Given the description of an element on the screen output the (x, y) to click on. 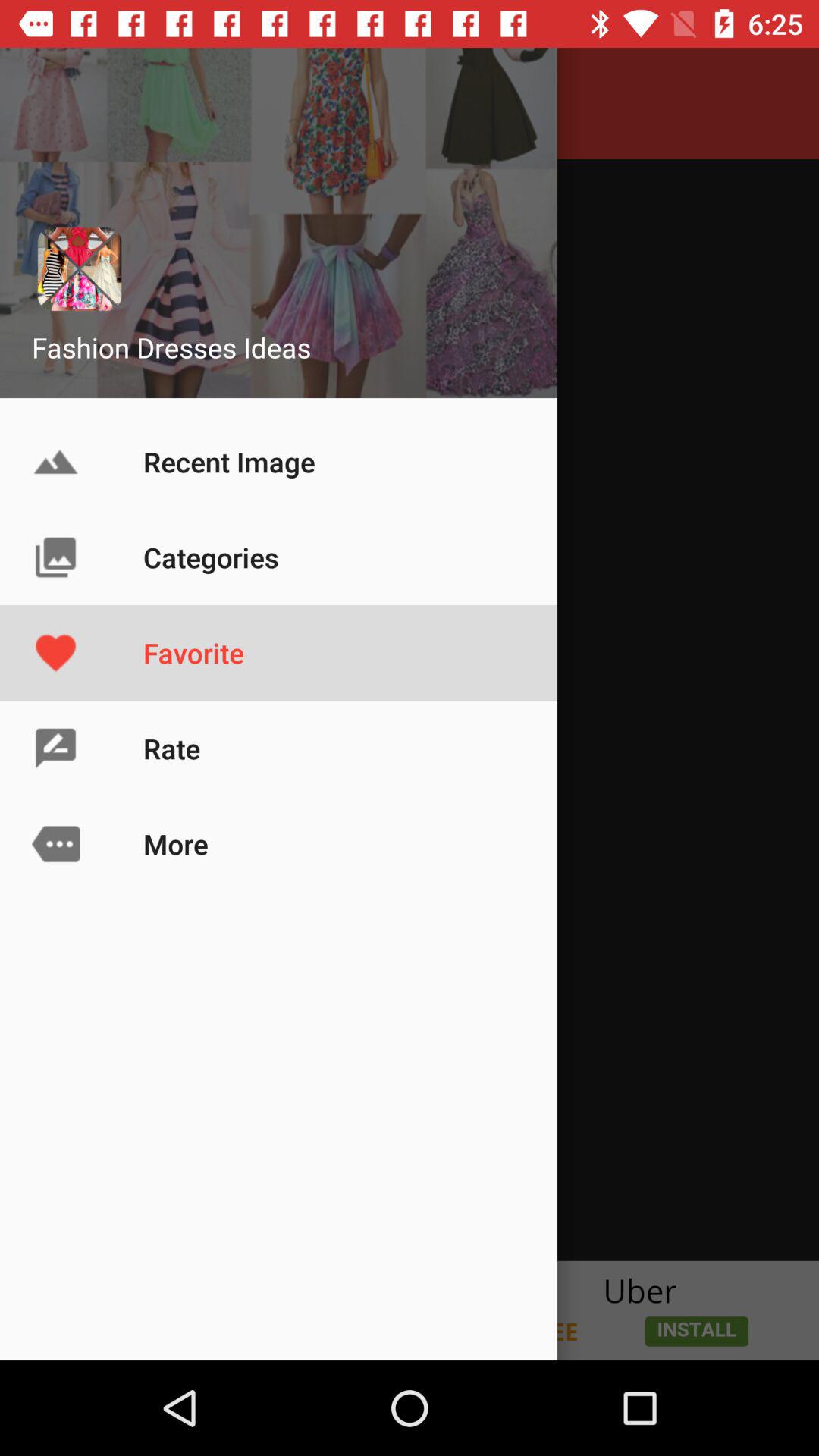
click on icon above fashion dresses ideas (79, 269)
